Given the description of an element on the screen output the (x, y) to click on. 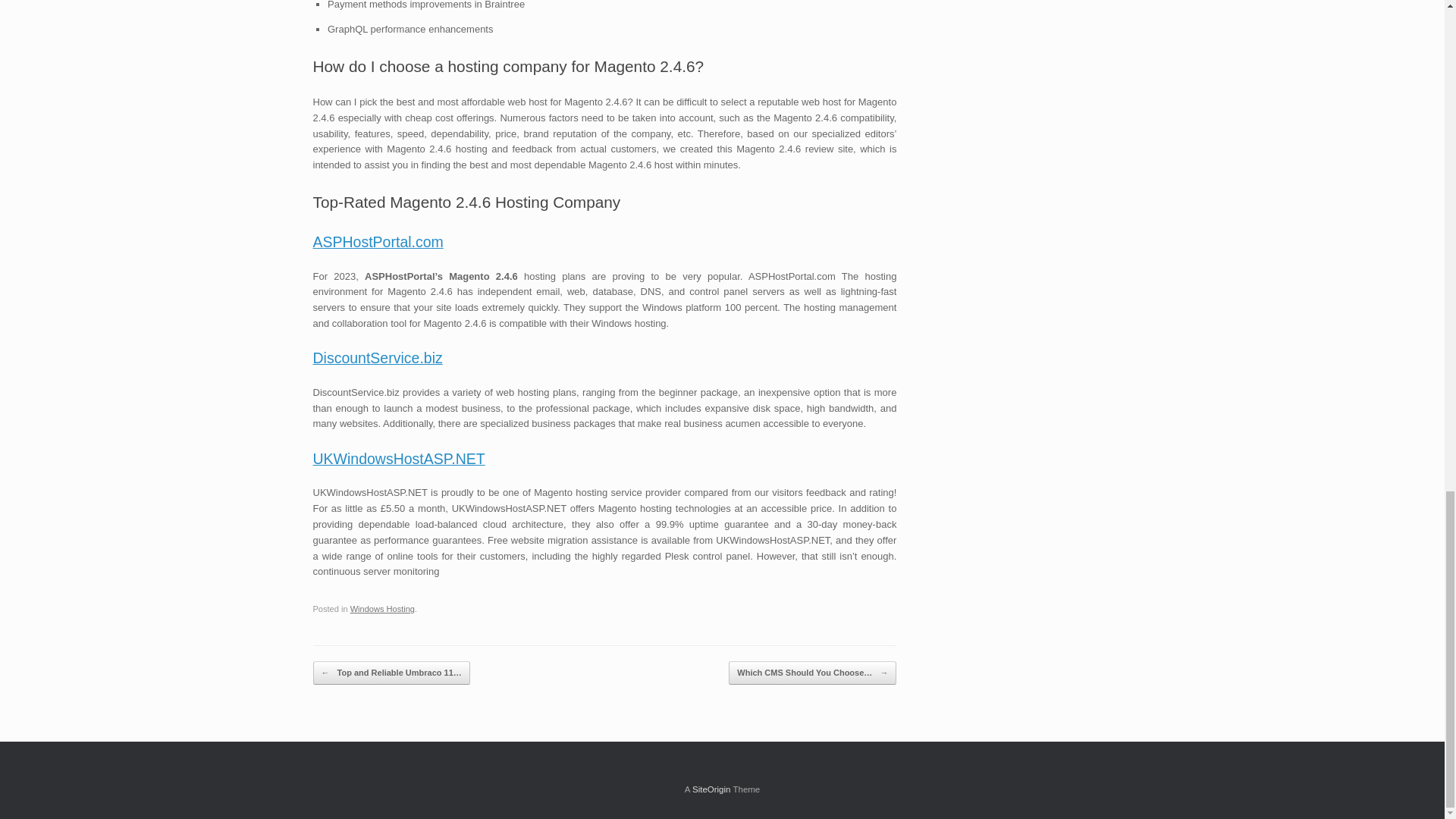
Windows Hosting (382, 608)
DiscountService.biz (377, 357)
ASPHostPortal.com (377, 241)
UKWindowsHostASP.NET (398, 458)
SiteOrigin (711, 788)
